Given the description of an element on the screen output the (x, y) to click on. 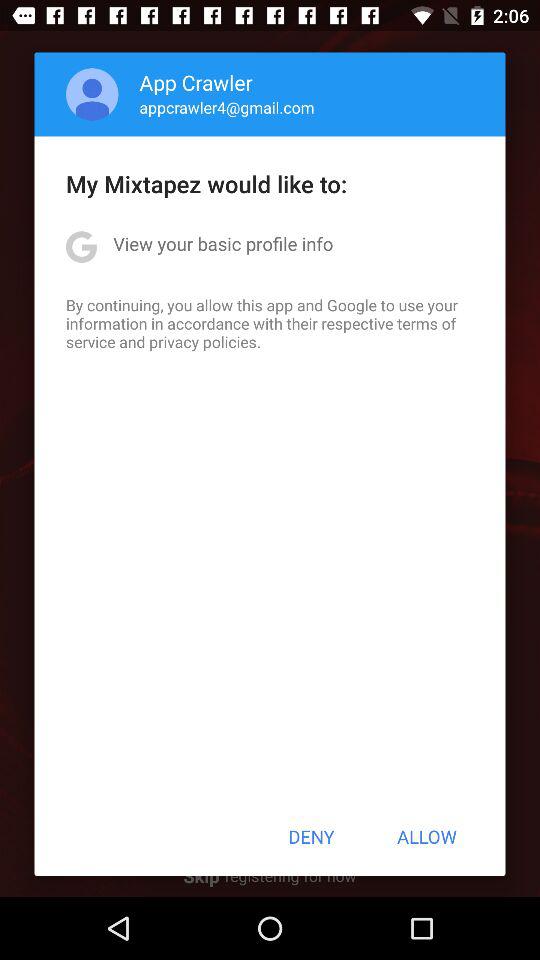
select app crawler (195, 82)
